Given the description of an element on the screen output the (x, y) to click on. 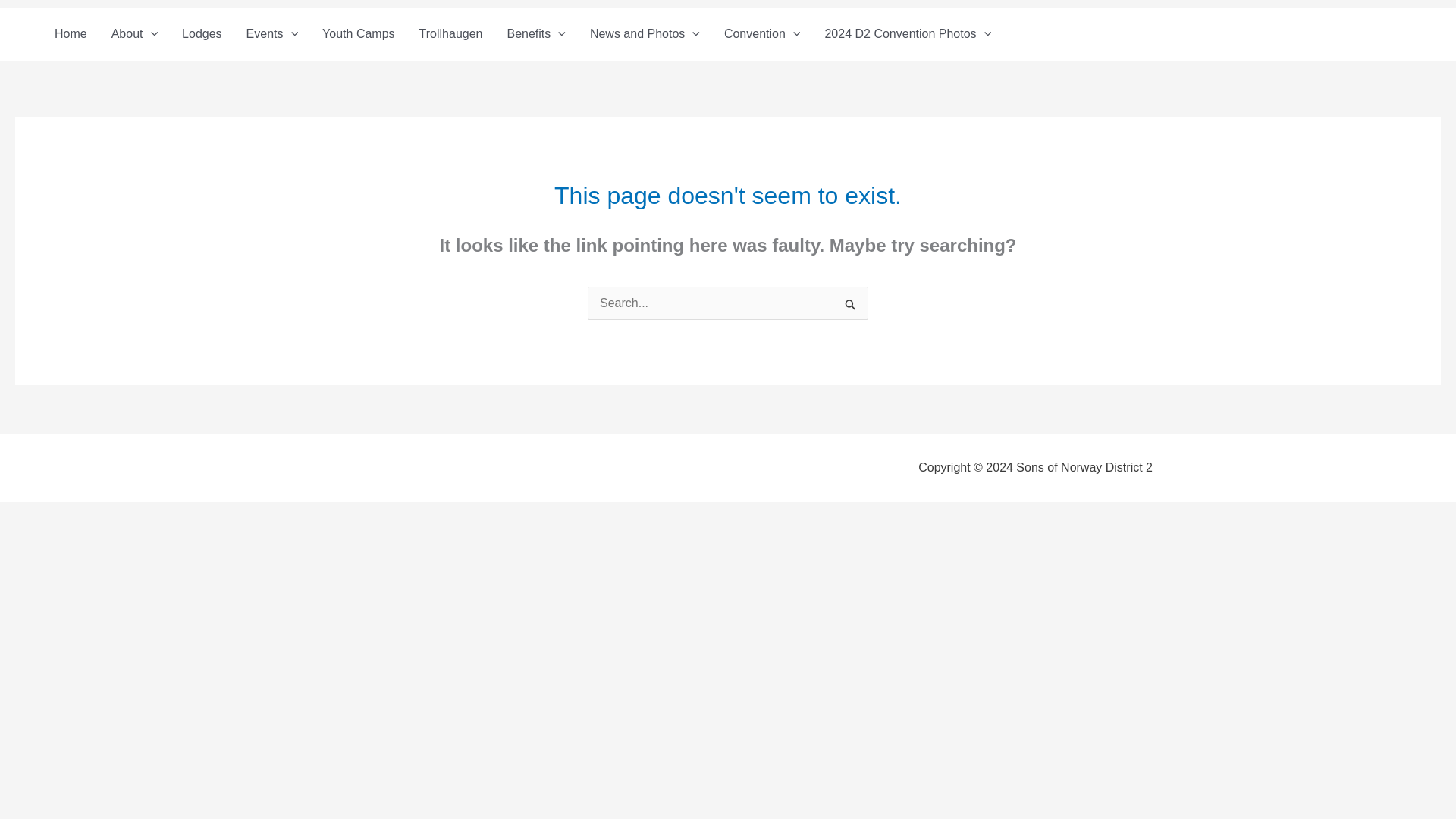
Convention (761, 33)
About (134, 33)
Events (272, 33)
Youth Camps (358, 33)
Lodges (202, 33)
News and Photos (644, 33)
Benefits (535, 33)
Home (70, 33)
Trollhaugen (451, 33)
